Given the description of an element on the screen output the (x, y) to click on. 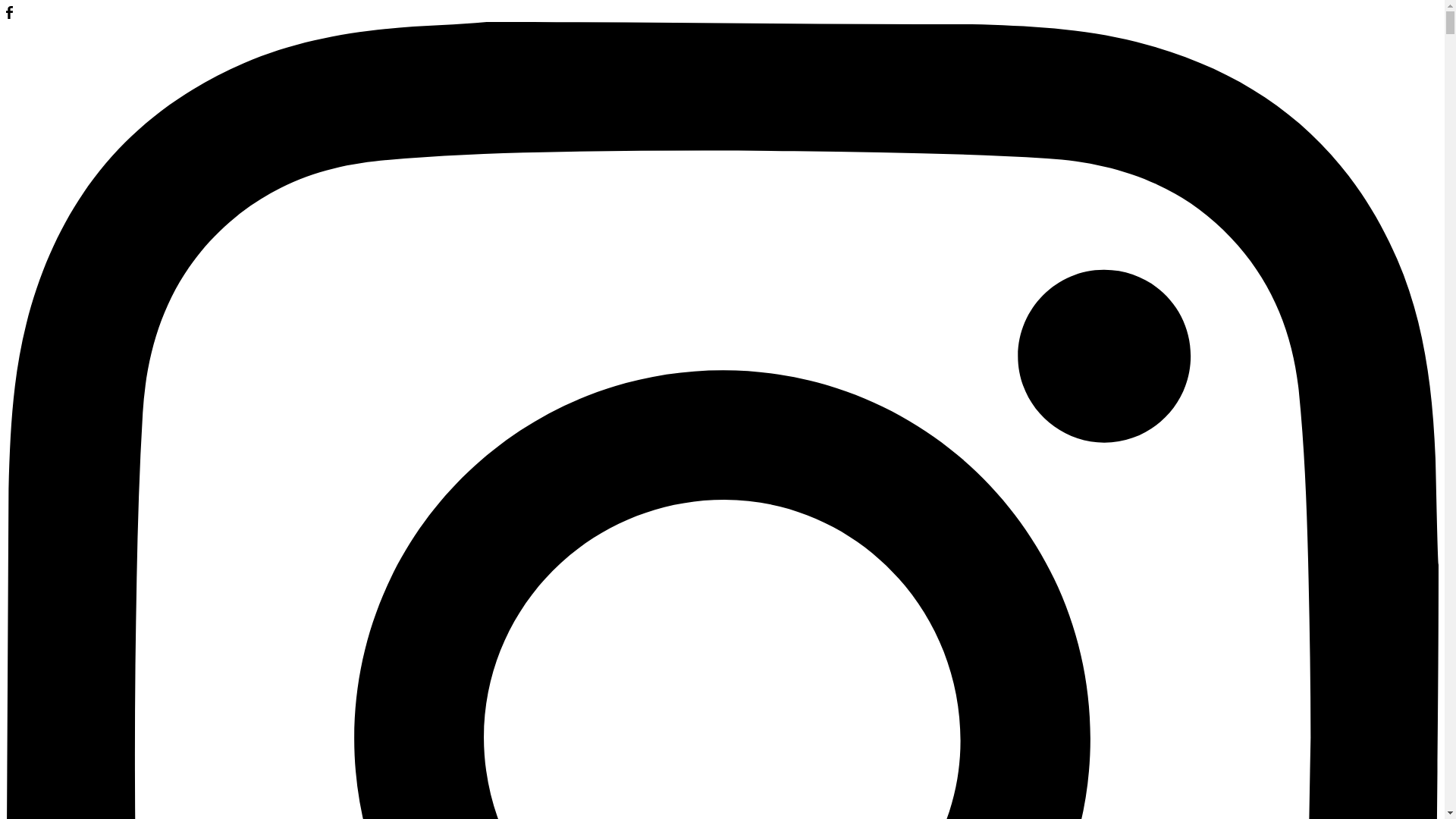
A link to this website's Facebook. (9, 14)
